Given the description of an element on the screen output the (x, y) to click on. 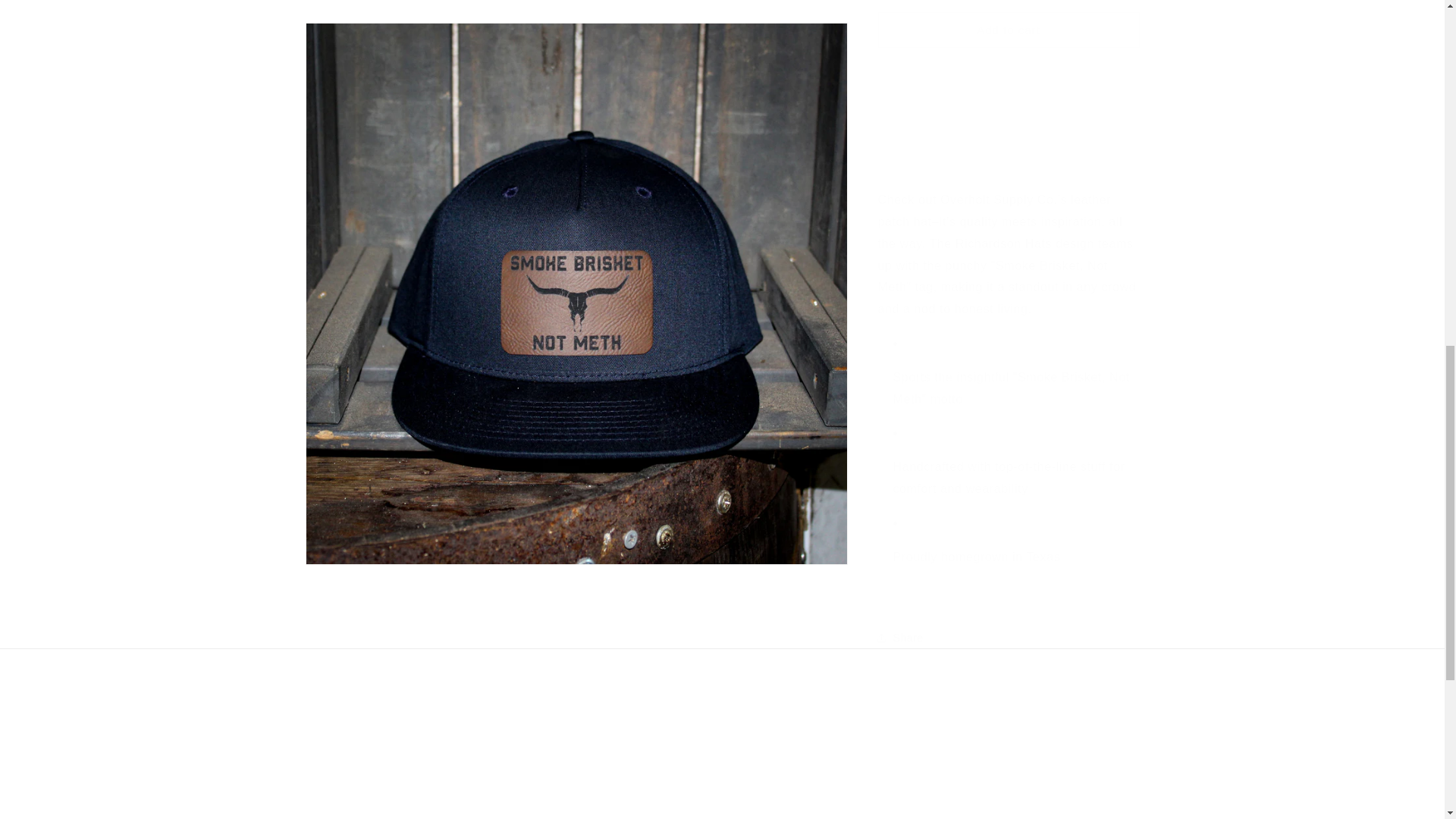
GovX ID Button (717, 791)
